Given the description of an element on the screen output the (x, y) to click on. 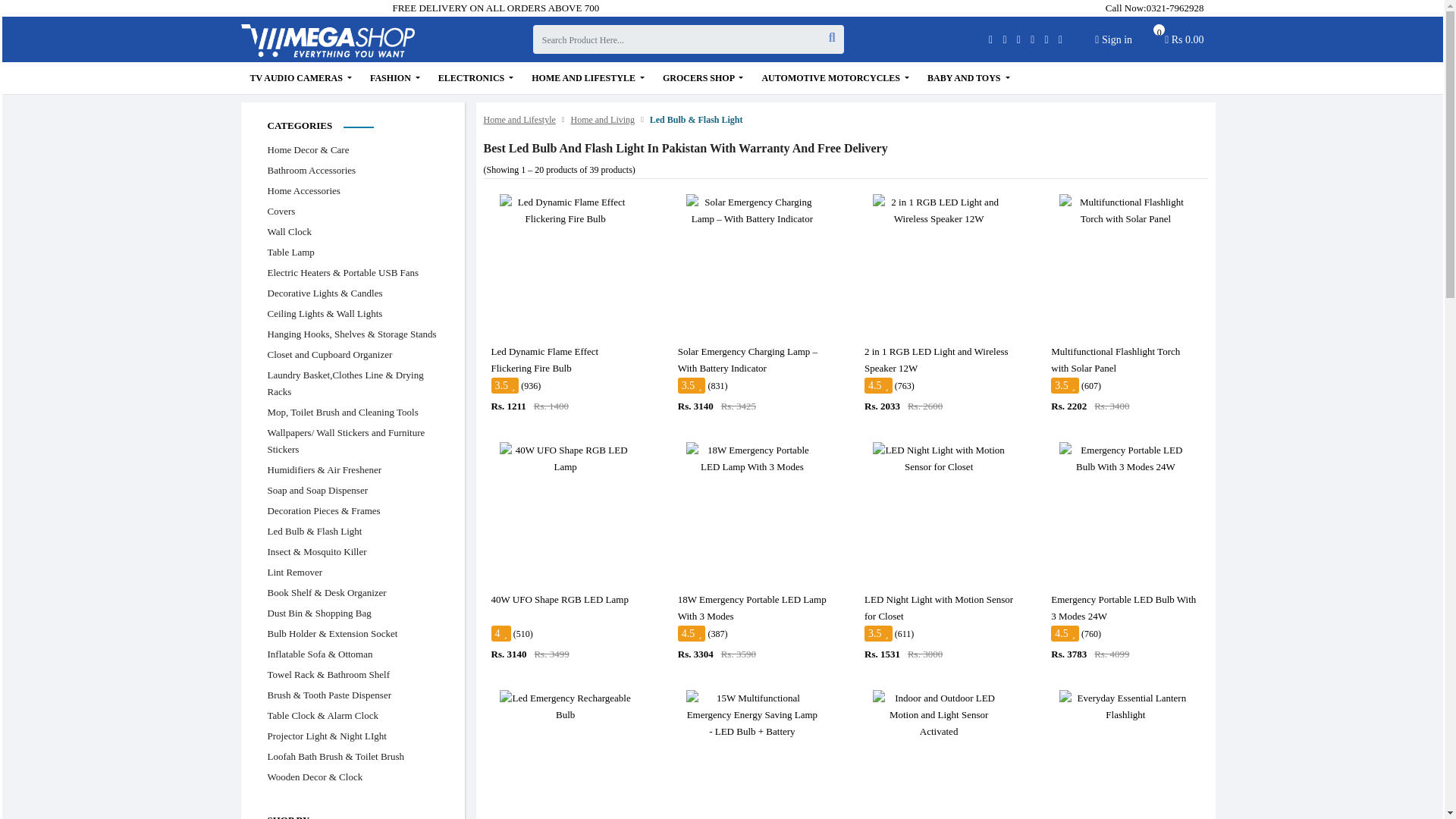
0321-7962928 (1175, 7)
Indoor and Outdoor LED Motion and Light Sensor Activated (938, 715)
Emergency Portable LED Bulb With 3 Modes 24W (1125, 458)
TV AUDIO CAMERAS (301, 78)
FASHION (395, 78)
40W UFO Shape RGB LED Lamp (565, 458)
Led Dynamic Flame Effect Flickering Fire Bulb (565, 210)
2 in 1 RGB LED Light and Wireless Speaker 12W (938, 210)
Led Emergency Rechargeable Bulb (565, 706)
Sign in (1113, 39)
18W Emergency Portable LED Lamp With 3 Modes (751, 458)
LED Night Light with Motion Sensor for Closet (938, 458)
Multifunctional Flashlight Torch with Solar Panel (1125, 210)
Everyday Essential Lantern Flashlight (1125, 706)
